Given the description of an element on the screen output the (x, y) to click on. 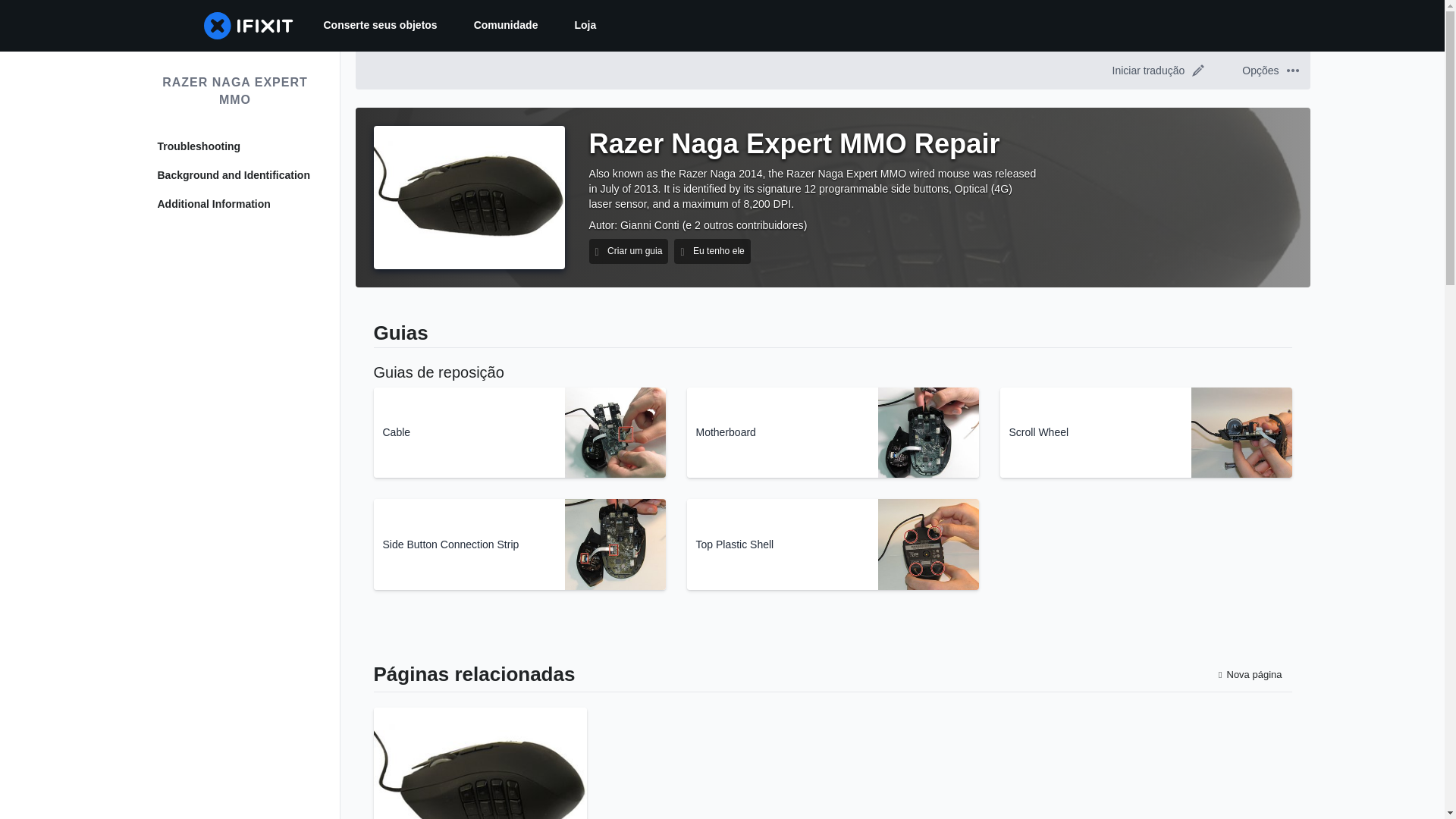
Side Button Connection Strip (518, 543)
Background and Identification (235, 175)
Cable (518, 432)
Additional Information (235, 204)
Criar um guia (628, 251)
Gianni Conti (649, 224)
Scroll Wheel (1144, 432)
Comunidade (505, 25)
Editar (1198, 70)
Loja (585, 25)
